Given the description of an element on the screen output the (x, y) to click on. 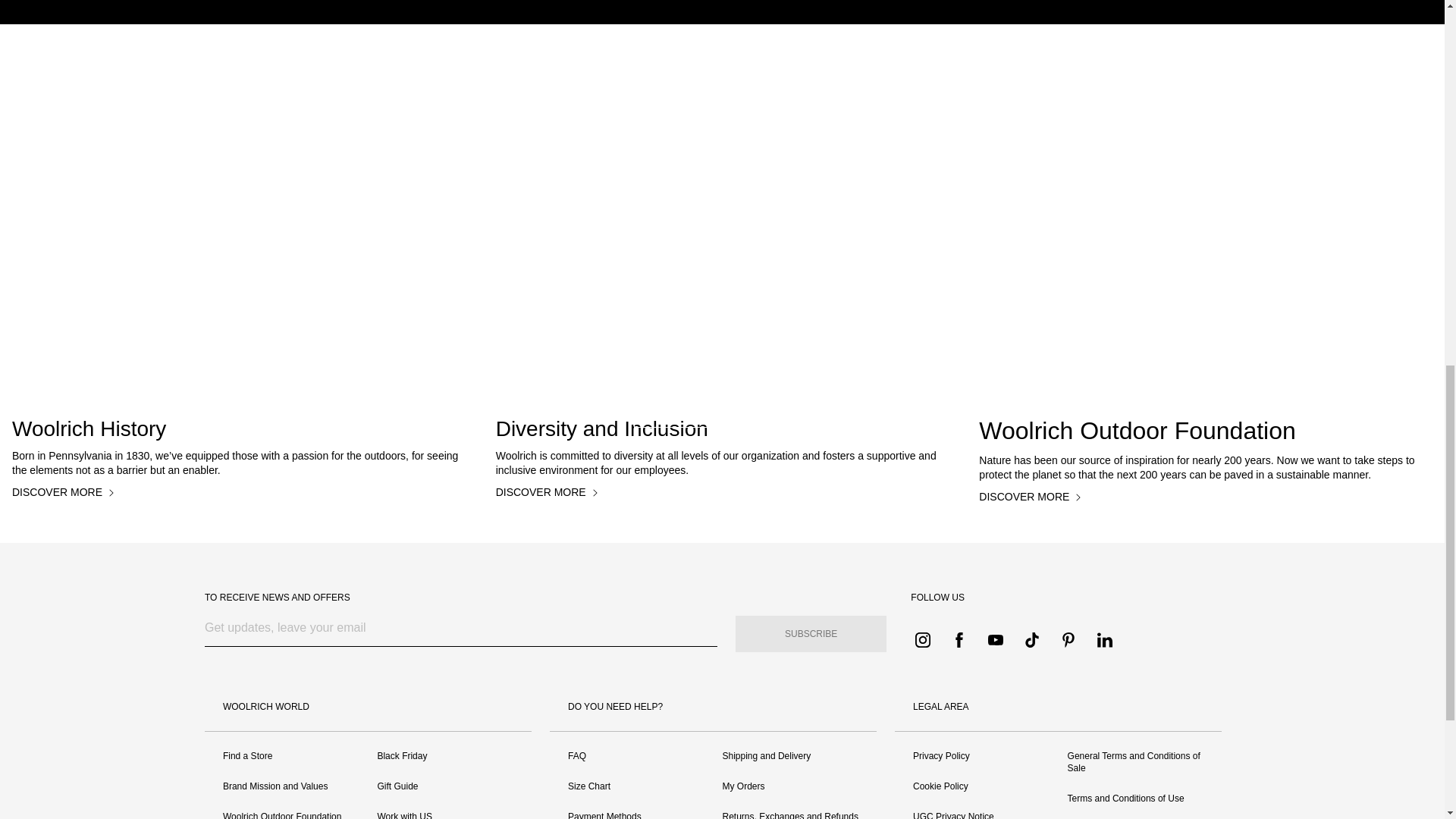
Woolrich History (238, 428)
DISCOVER MORE (65, 493)
DISCOVER MORE (550, 493)
DISCOVER MORE (1032, 497)
SUBSCRIBE (810, 633)
DISCOVER MORE (721, 407)
Diversity and Inclusion (722, 428)
Woolrich Outdoor Foundation (1205, 430)
